Given the description of an element on the screen output the (x, y) to click on. 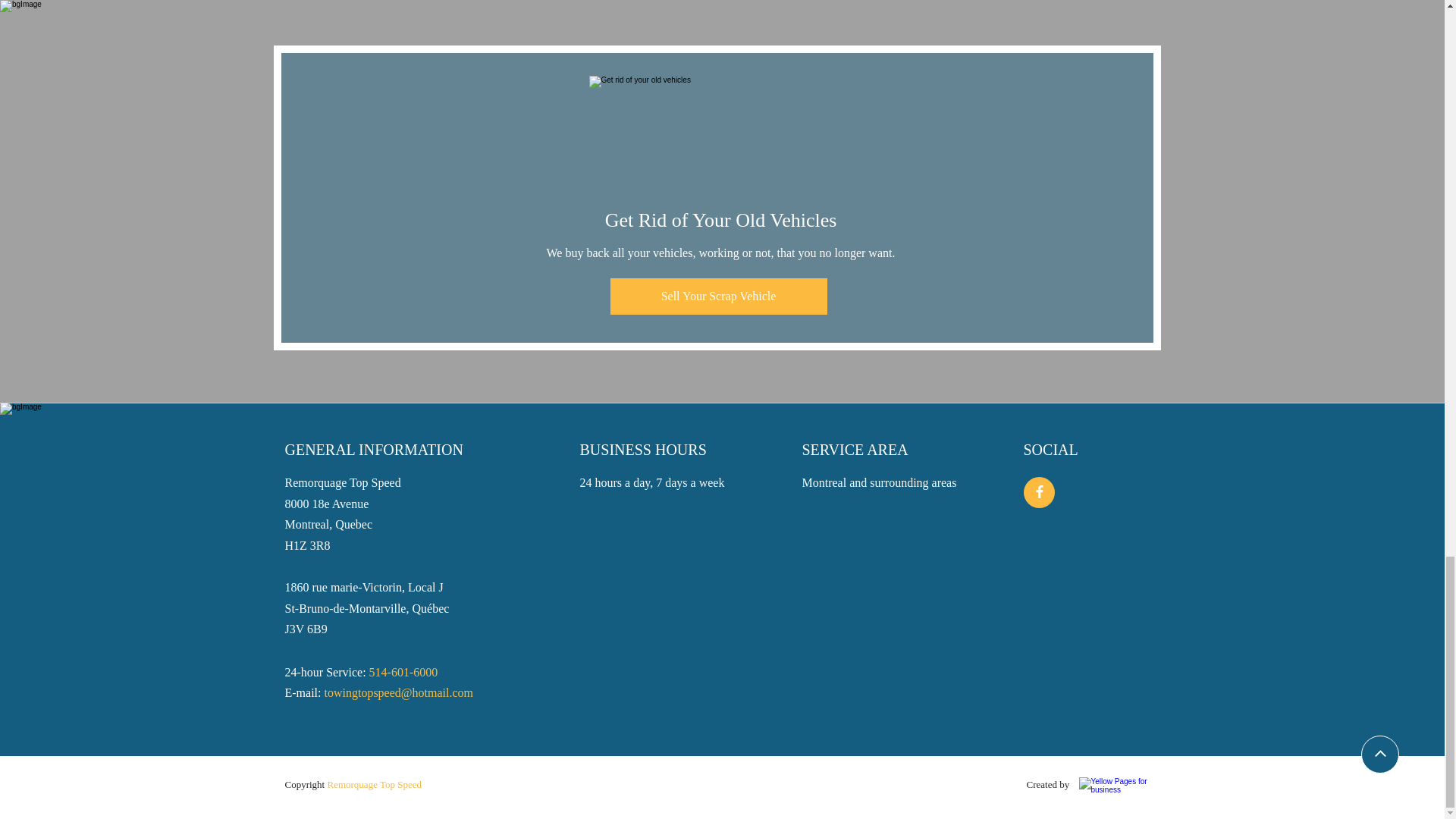
Remorquage Top Speed (374, 784)
Sell Your Scrap Vehicle (718, 296)
514-601-6000 (403, 671)
